Given the description of an element on the screen output the (x, y) to click on. 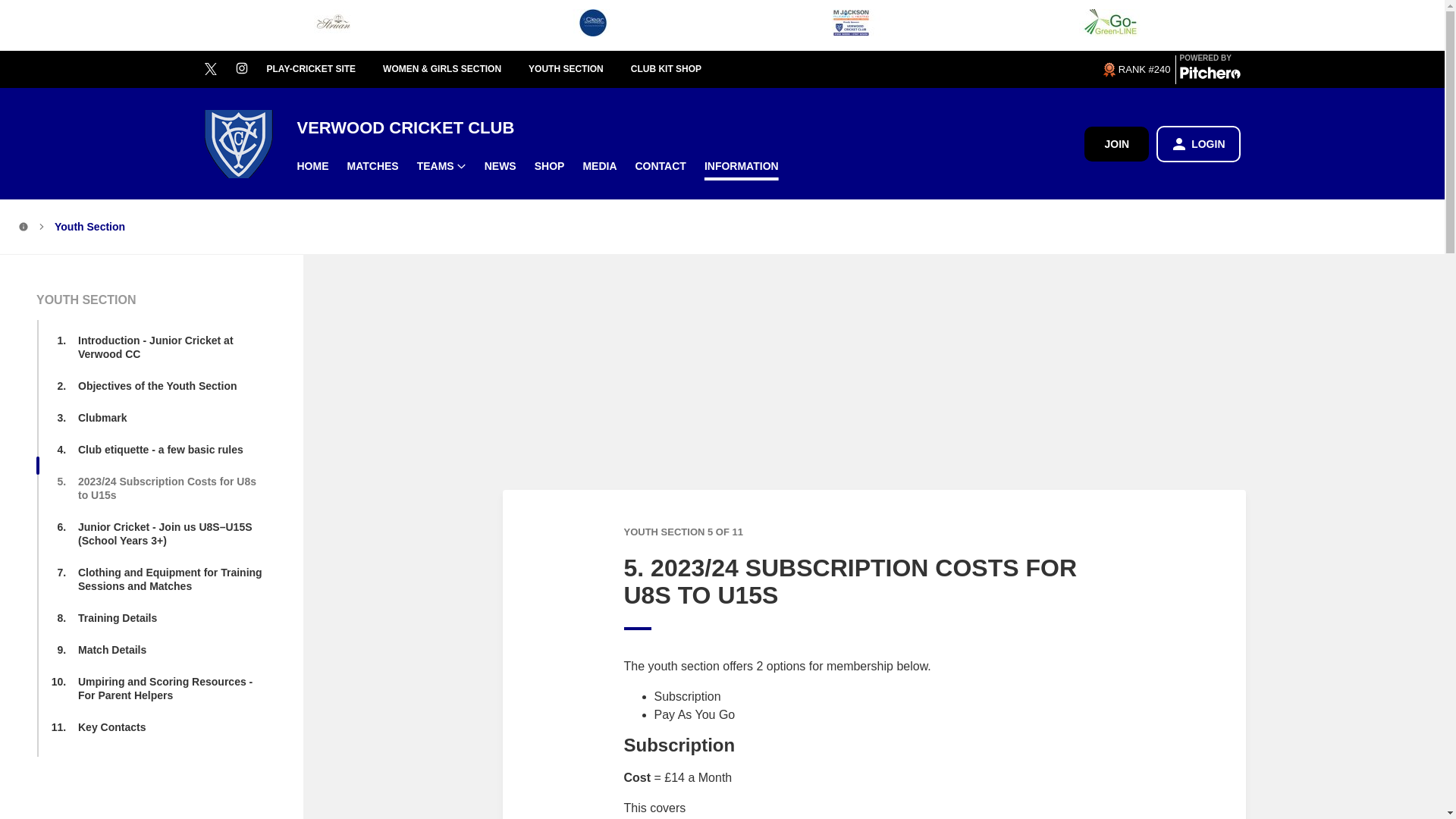
JOIN (1116, 143)
NEWS (500, 165)
JOIN (1116, 143)
Pitchero (1209, 75)
PLAY-CRICKET SITE (325, 69)
Pitchero Rankings (1135, 69)
Youth Match Ball Sponsor - Clear Bookkeeping Ltd (592, 25)
CLUB KIT SHOP (679, 69)
MATCHES (372, 165)
YOUTH SECTION (579, 69)
